Given the description of an element on the screen output the (x, y) to click on. 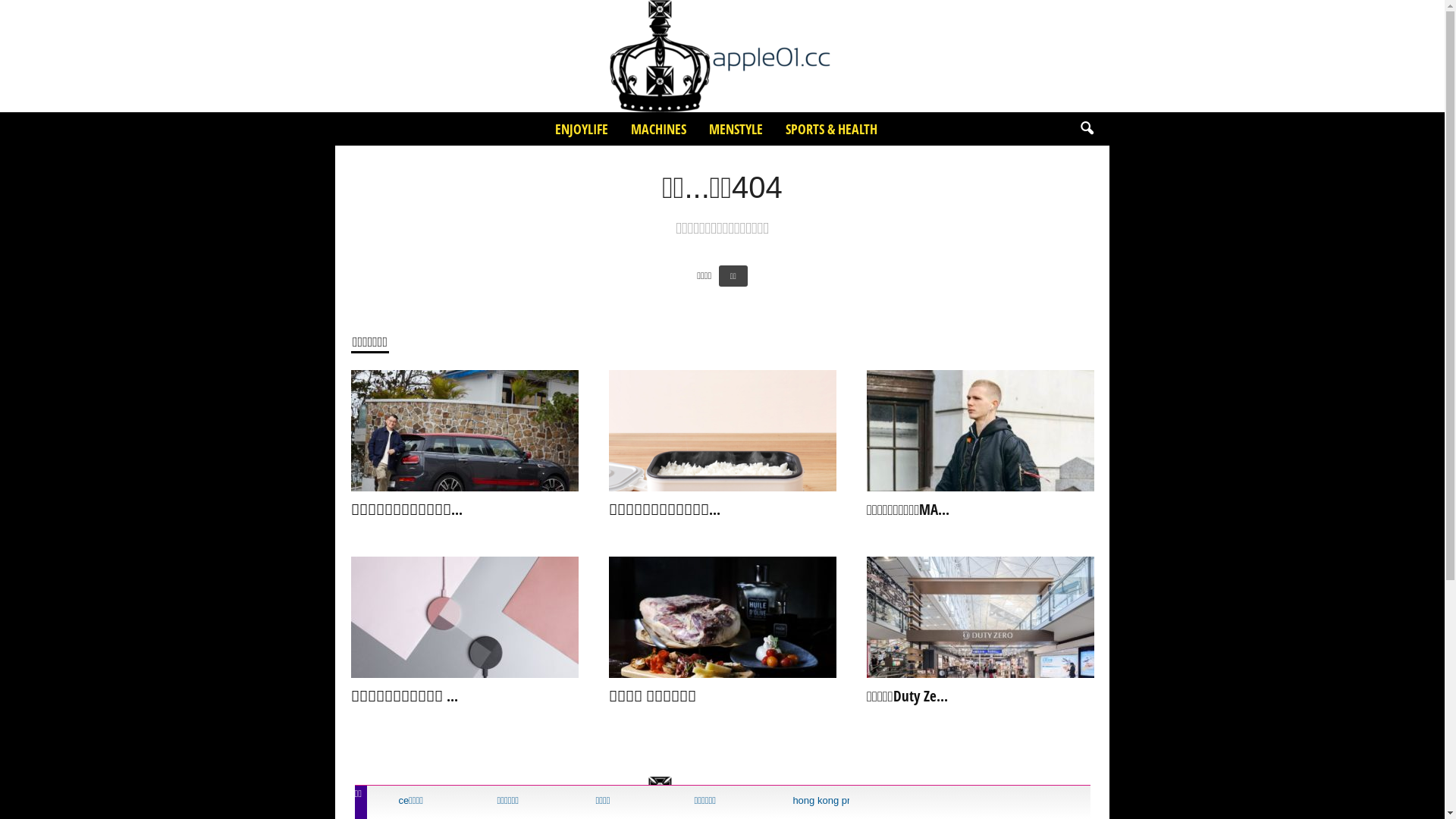
MENSTYLE Element type: text (735, 128)
SPORTS & HEALTH Element type: text (830, 128)
ENJOYLIFE Element type: text (580, 128)
hong kong property Element type: text (827, 800)
MACHINES Element type: text (657, 128)
apple01.cc Element type: text (722, 56)
